Given the description of an element on the screen output the (x, y) to click on. 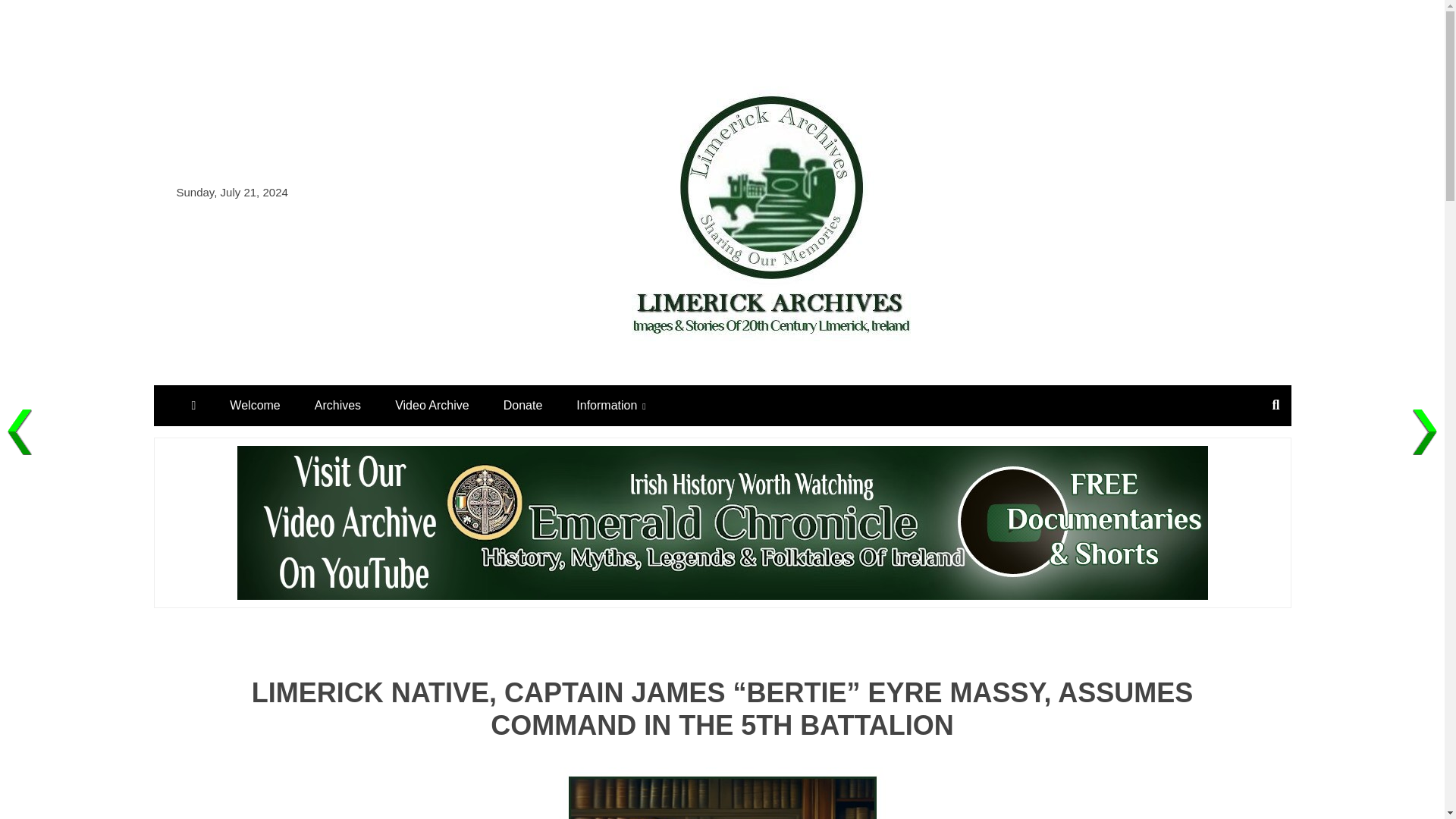
Welcome (254, 404)
Video Archive (432, 404)
Information (610, 404)
Archives (337, 404)
Donate (522, 404)
